Given the description of an element on the screen output the (x, y) to click on. 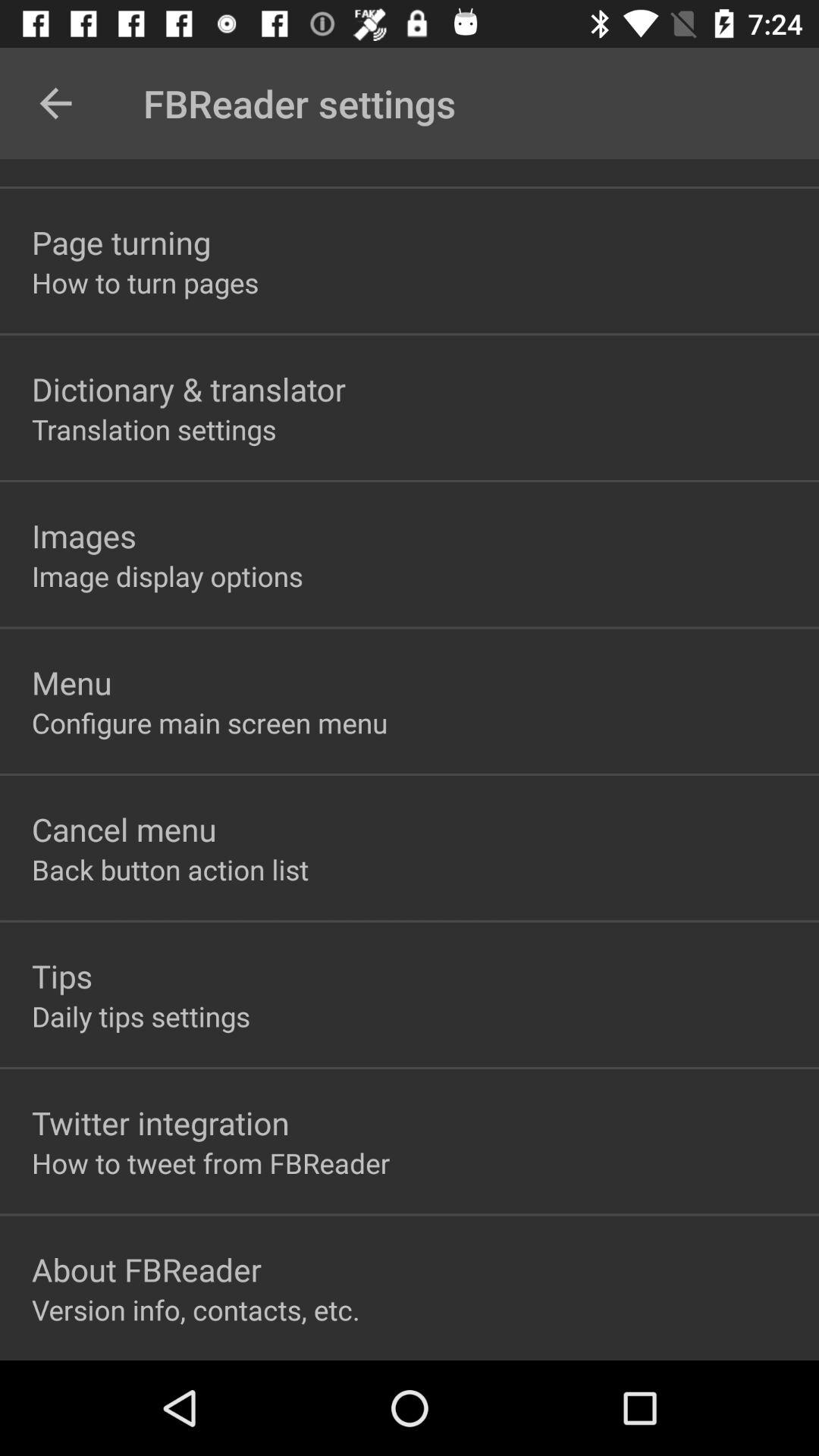
choose the configure main screen (209, 722)
